Given the description of an element on the screen output the (x, y) to click on. 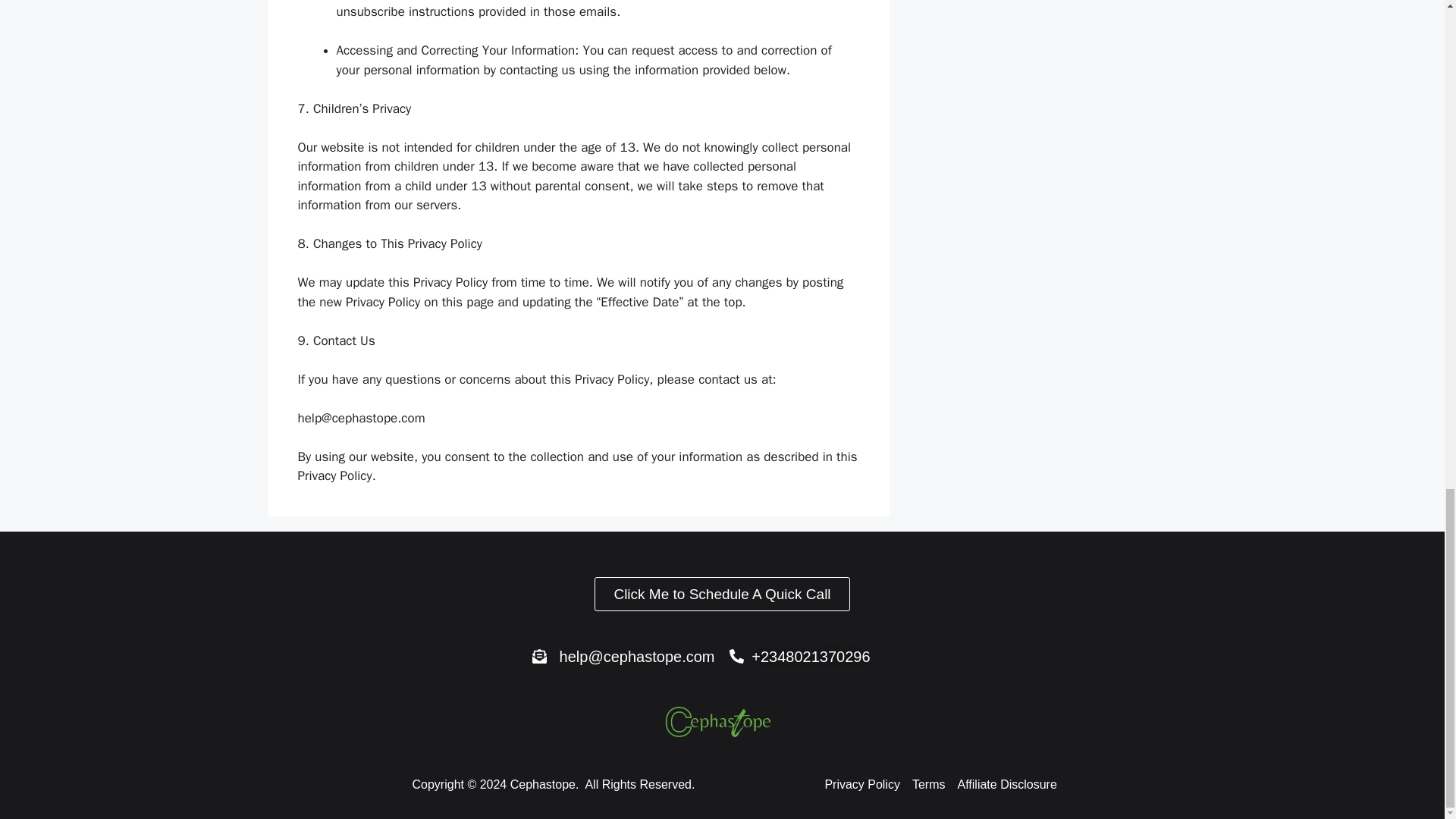
Privacy Policy (861, 784)
Terms (928, 784)
Click Me to Schedule A Quick Call (721, 593)
Affiliate Disclosure (1007, 784)
